Given the description of an element on the screen output the (x, y) to click on. 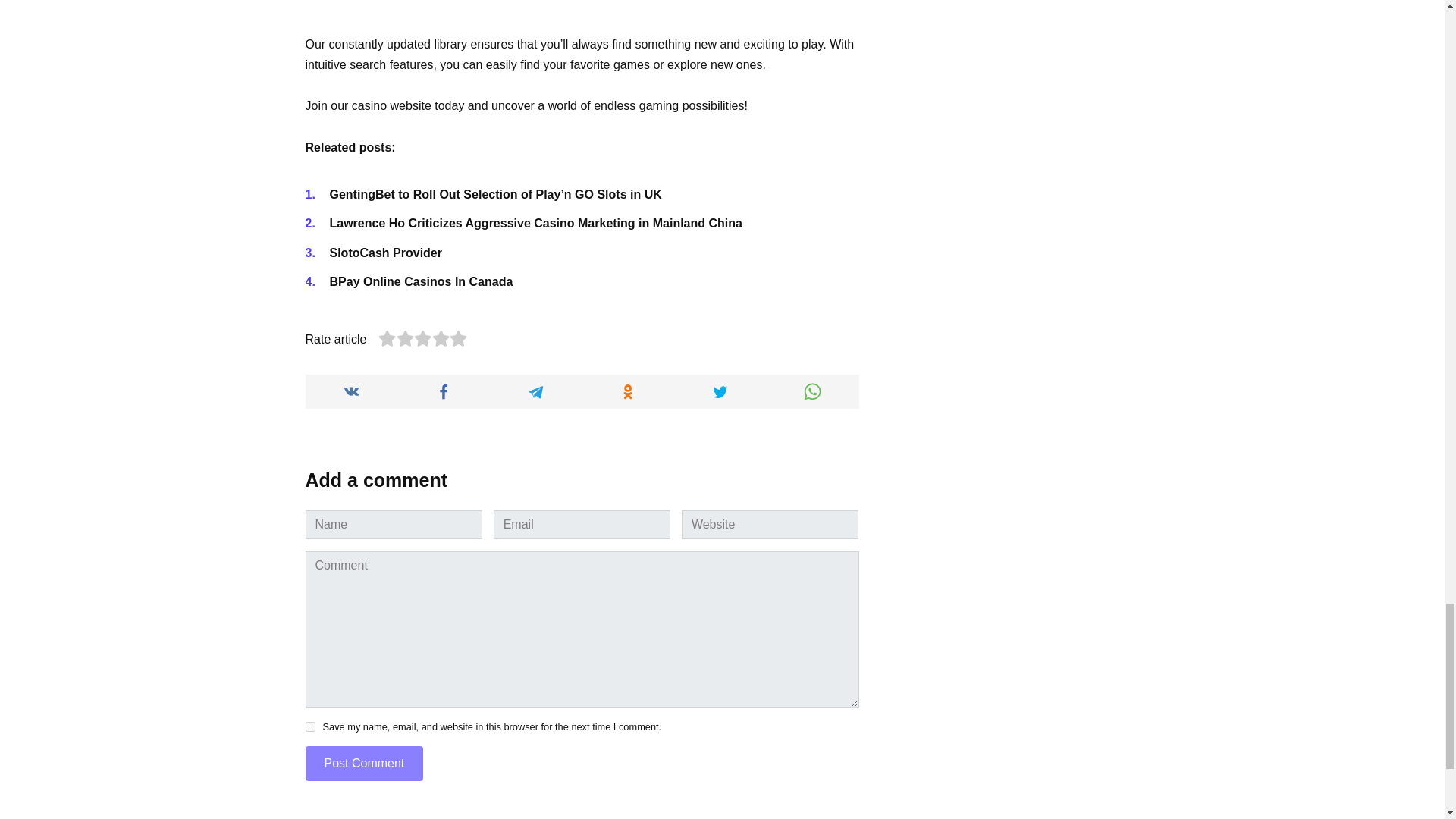
Post Comment (363, 763)
BPay Online Casinos In Canada (420, 281)
BPay Online Casinos In Canada (420, 281)
yes (309, 726)
SlotoCash Provider (385, 252)
SlotoCash Provider (385, 252)
Post Comment (363, 763)
